Given the description of an element on the screen output the (x, y) to click on. 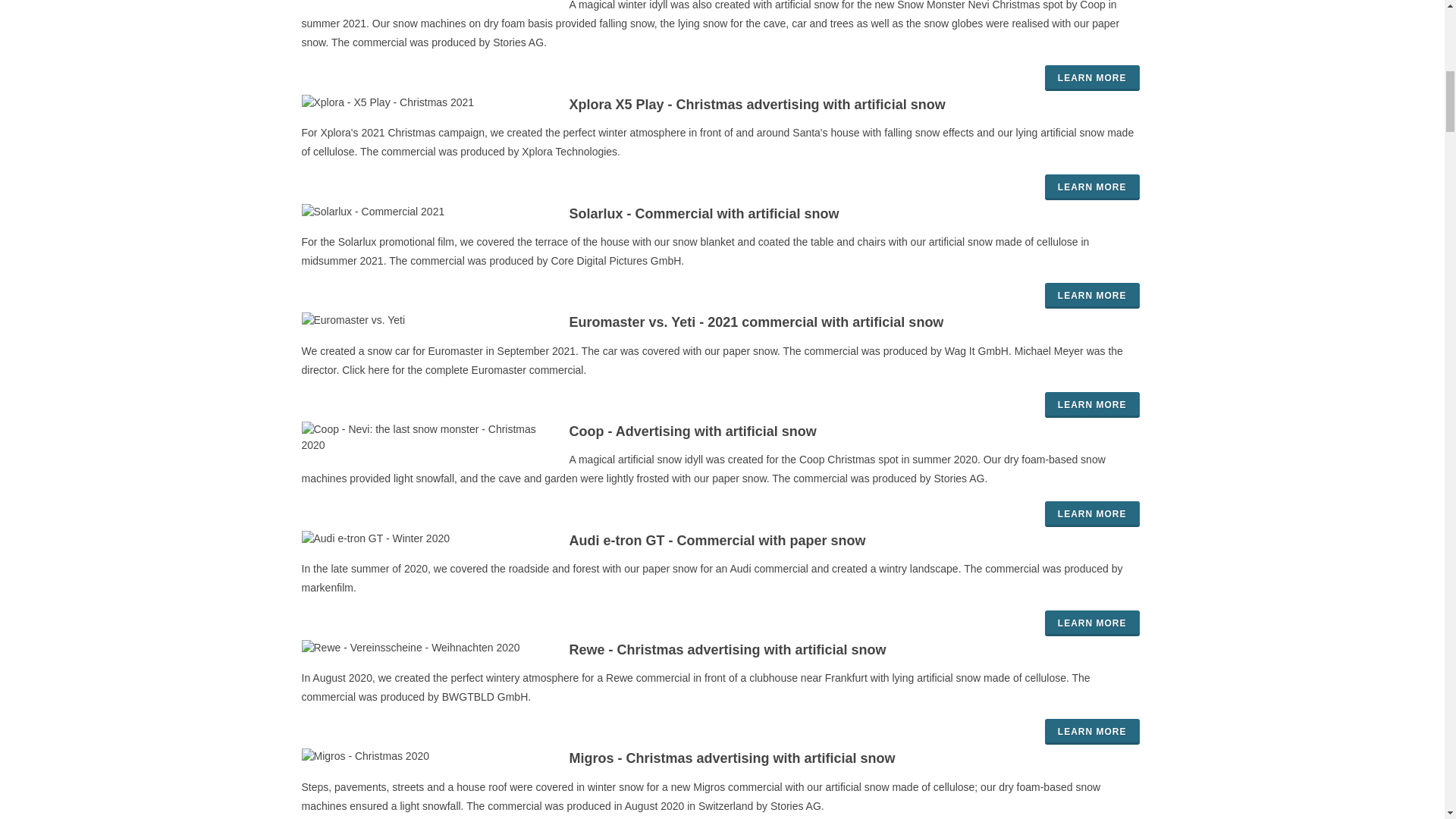
Coop - Snow Monster Nevi: the new housemate - Christmas 2021 (710, 24)
Euromaster vs. Yeti (711, 359)
Solarlux - Commercial 2021 (721, 213)
Euromaster vs. Yeti (1092, 404)
Coop - Nevi: the last snow monster - Christmas 2020 (1092, 514)
Coop - Snow Monster Nevi: the new housemate - Christmas 2021 (1092, 77)
Coop - Nevi: the last snow monster - Christmas 2020 (721, 431)
Xplora - X5 Play - Christmas 2021 (1092, 186)
Coop - Nevi: the last snow monster - Christmas 2020 (703, 468)
Xplora - X5 Play - Christmas 2021 (721, 105)
Solarlux - Commercial 2021 (1092, 295)
Euromaster vs. Yeti (721, 322)
Solarlux - Commercial 2021 (695, 250)
Xplora - X5 Play - Christmas 2021 (717, 142)
